Given the description of an element on the screen output the (x, y) to click on. 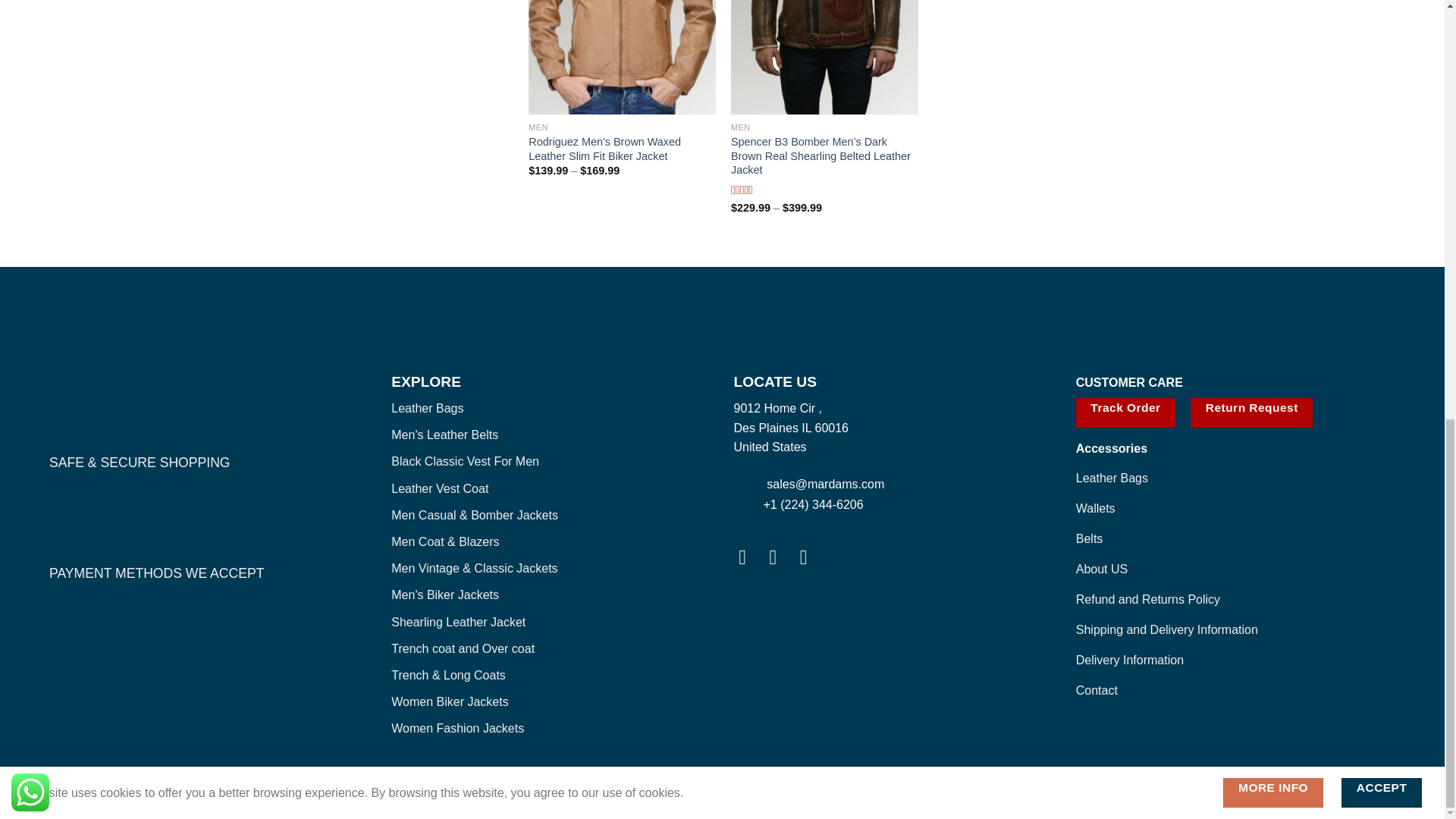
Follow on Twitter (810, 557)
Follow on Instagram (780, 557)
Follow on Facebook (748, 557)
